Given the description of an element on the screen output the (x, y) to click on. 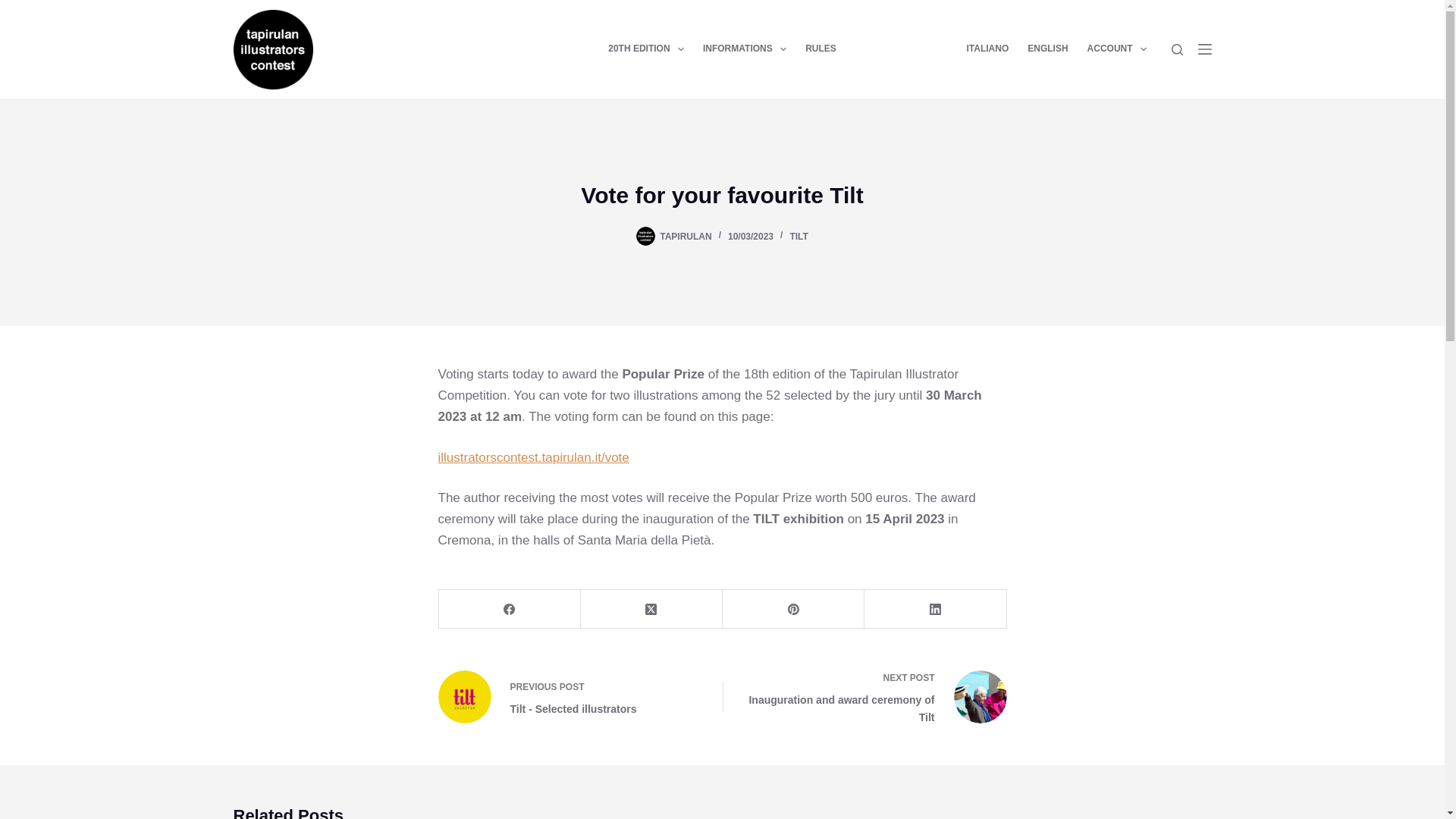
Skip to content (15, 7)
Vote for your favourite Tilt (722, 195)
Posts by Tapirulan (685, 235)
